Given the description of an element on the screen output the (x, y) to click on. 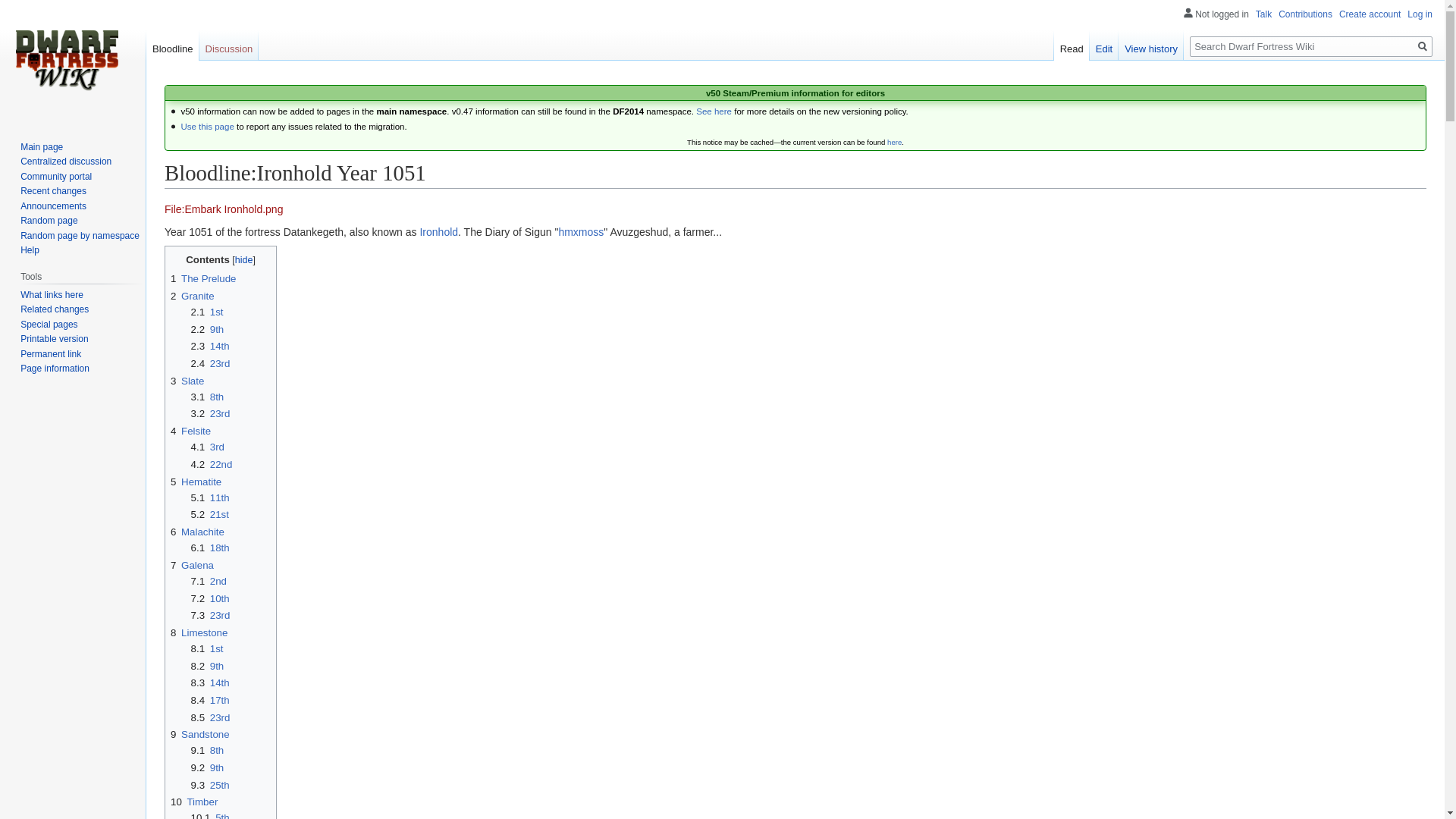
9.3 25th (210, 785)
7.3 23rd (210, 614)
9 Sandstone (200, 734)
here (893, 142)
Dwarf Fortress Wiki talk:Versions (206, 126)
Go (1422, 46)
3 Slate (186, 380)
8.2 9th (207, 665)
3.2 23rd (210, 413)
2.3 14th (210, 346)
Ironhold (438, 232)
6 Malachite (197, 531)
2.4 23rd (210, 363)
8.3 14th (210, 682)
